Given the description of an element on the screen output the (x, y) to click on. 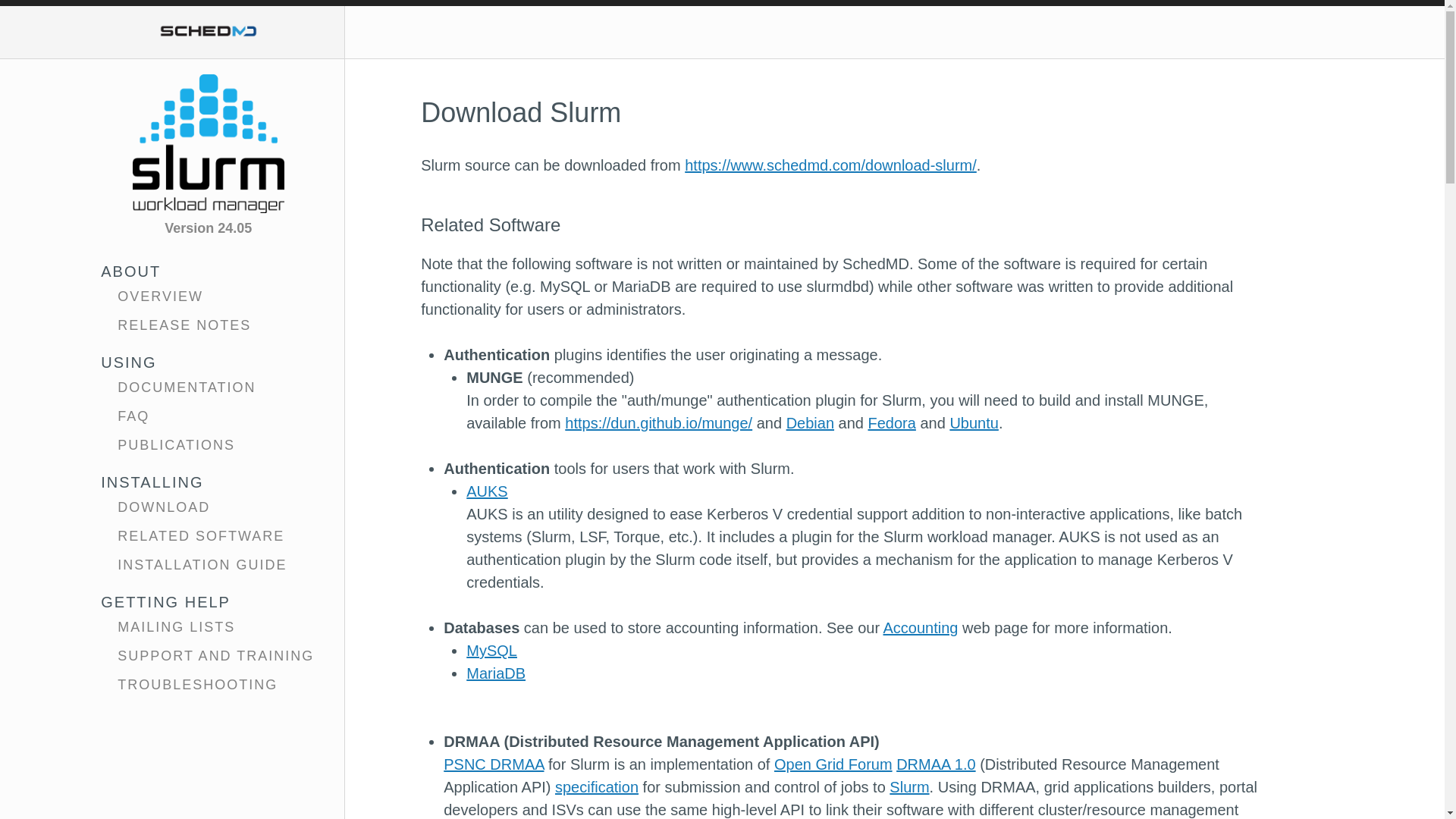
MariaDB (495, 673)
RELATED SOFTWARE (207, 532)
Accounting (920, 627)
INSTALLATION GUIDE (207, 561)
RELEASE NOTES (207, 321)
OVERVIEW (207, 293)
Debian (810, 422)
DRMAA 1.0 (935, 764)
AUKS (485, 491)
TROUBLESHOOTING (207, 681)
Slurm (908, 786)
PSNC DRMAA (493, 764)
MySQL (490, 650)
MAILING LISTS (207, 623)
Open Grid Forum (833, 764)
